Given the description of an element on the screen output the (x, y) to click on. 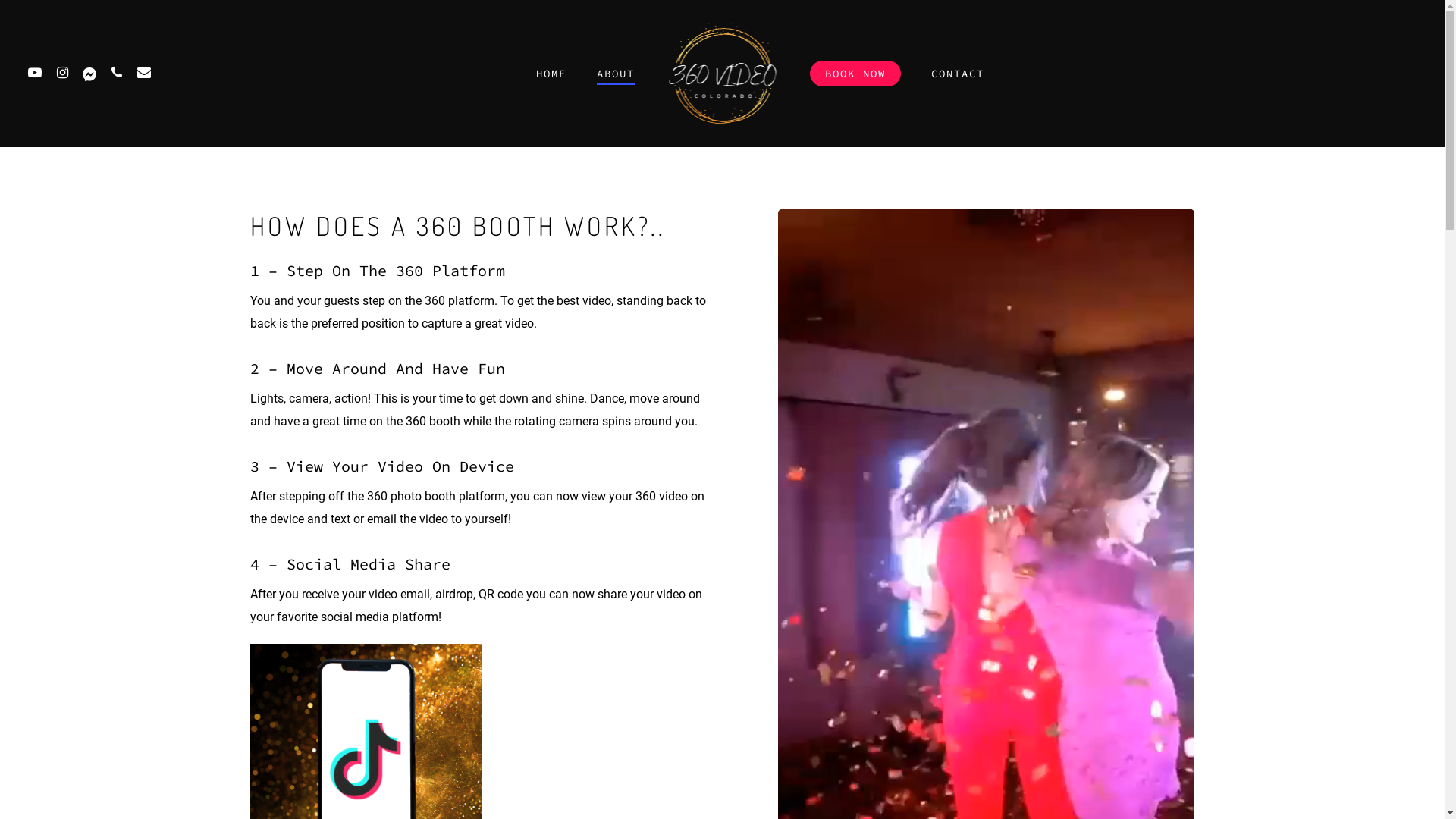
email Element type: text (854, 633)
SCHEDULE Element type: text (892, 510)
phone Element type: text (801, 633)
What is a 360 Video Booth Experience? Element type: text (985, 718)
CONTACT Element type: text (957, 73)
PHONE Element type: text (116, 73)
ABOUT Element type: text (614, 73)
YOUTUBE Element type: text (34, 73)
facebook Element type: text (589, 633)
instagram Element type: text (695, 633)
EMAIL Element type: text (143, 73)
INSTAGRAM Element type: text (61, 73)
BOOK NOW Element type: text (854, 73)
MESSENGER Element type: text (89, 73)
messenger Element type: text (748, 633)
youtube Element type: text (642, 633)
HOME Element type: text (550, 73)
